Given the description of an element on the screen output the (x, y) to click on. 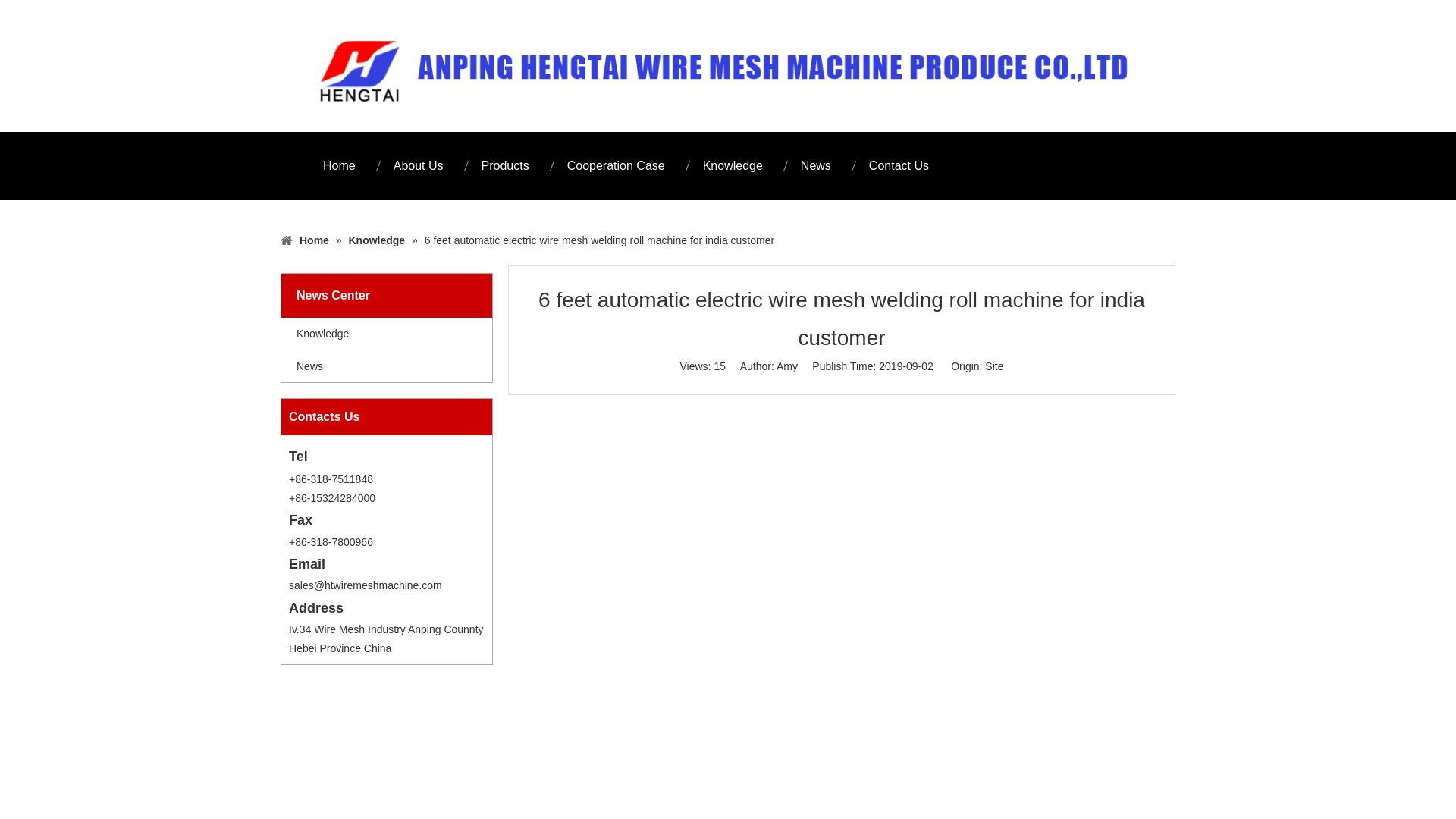
Products (505, 165)
Knowledge (732, 165)
Contact Us (898, 165)
News (386, 366)
Home (315, 240)
News (815, 165)
Knowledge (377, 240)
Knowledge (386, 333)
Site (994, 366)
News (386, 366)
